Given the description of an element on the screen output the (x, y) to click on. 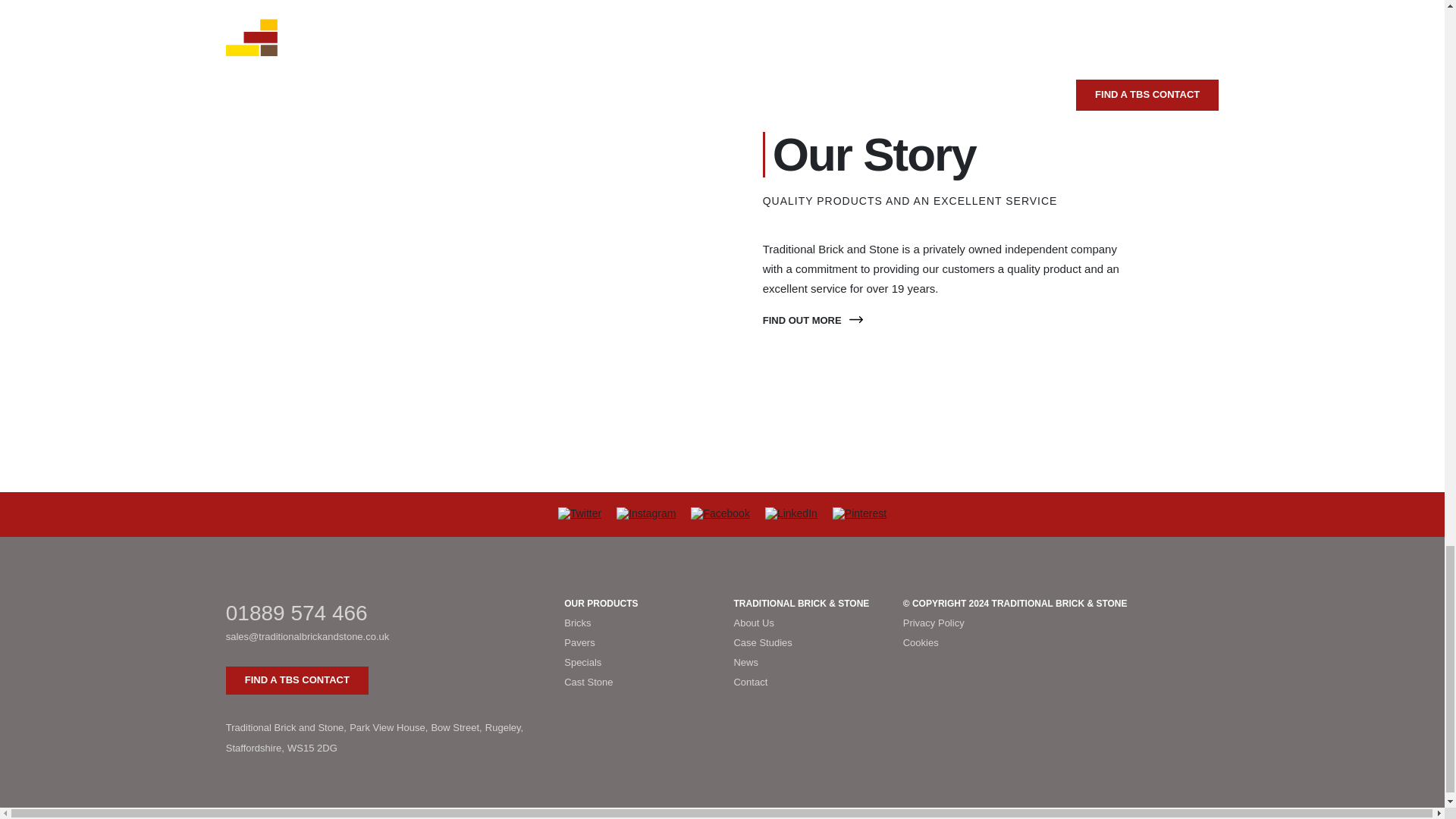
FIND A TBS CONTACT (296, 680)
01889 574 466 (383, 612)
FIND OUT MORE (812, 319)
Bricks (637, 623)
